Given the description of an element on the screen output the (x, y) to click on. 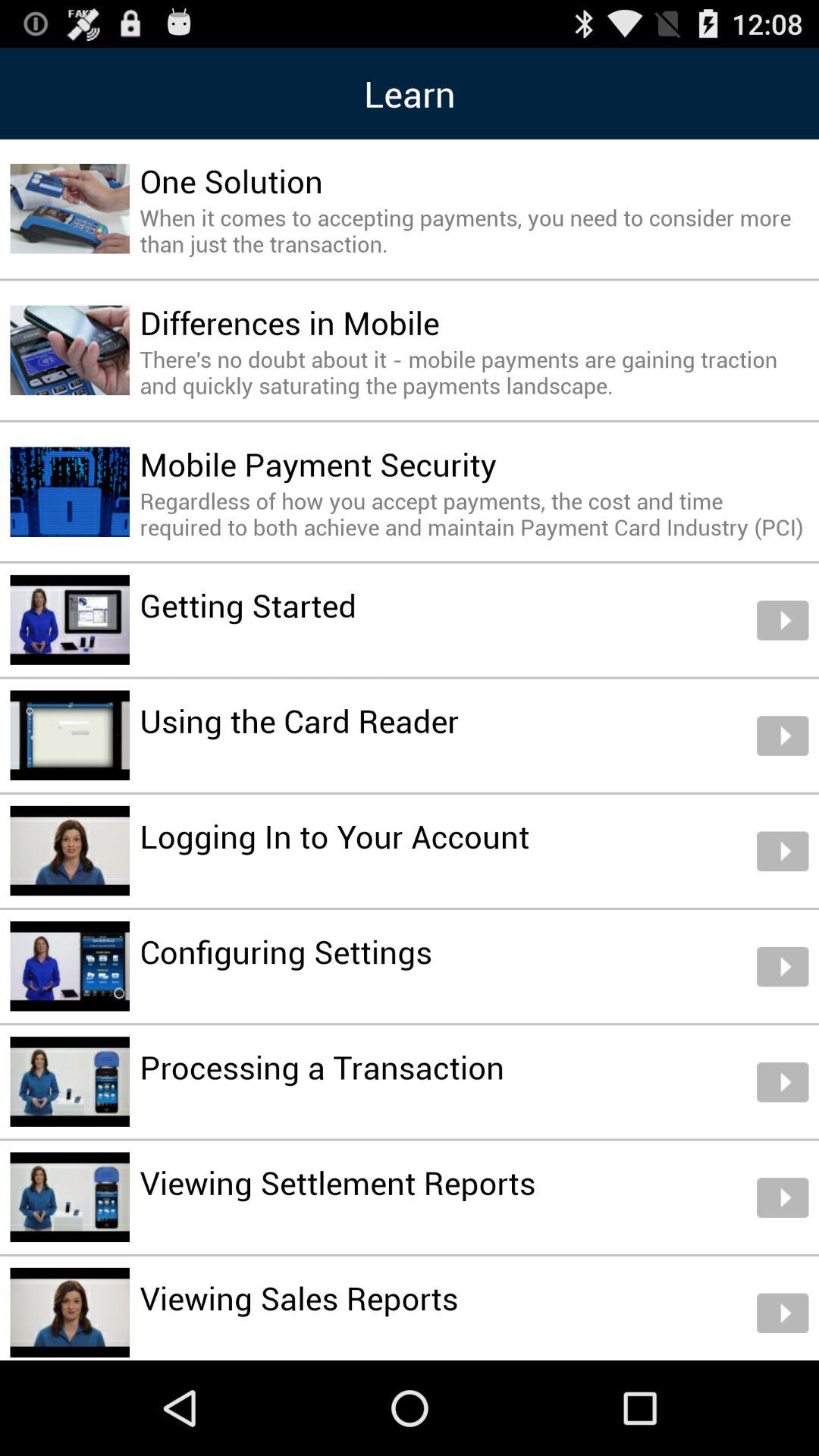
turn off configuring settings item (285, 951)
